Given the description of an element on the screen output the (x, y) to click on. 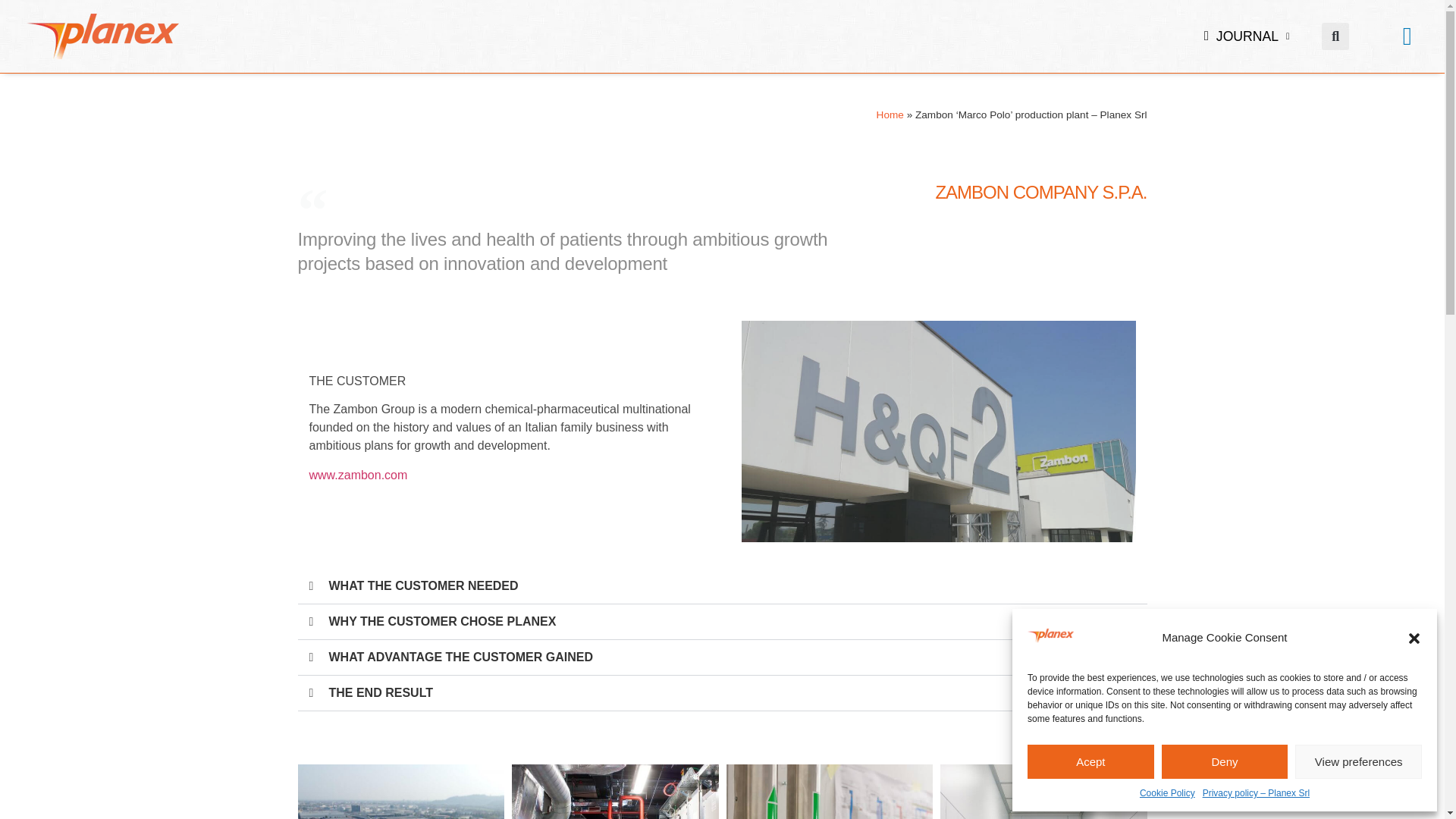
www.zambon.com (357, 474)
WHAT THE CUSTOMER NEEDED (423, 585)
Acept (1090, 761)
THE END RESULT (380, 692)
Home (890, 114)
  JOURNAL (1246, 36)
Cookie Policy (1167, 793)
WHY THE CUSTOMER CHOSE PLANEX (442, 621)
View preferences (1358, 761)
WHAT ADVANTAGE THE CUSTOMER GAINED (460, 656)
